Given the description of an element on the screen output the (x, y) to click on. 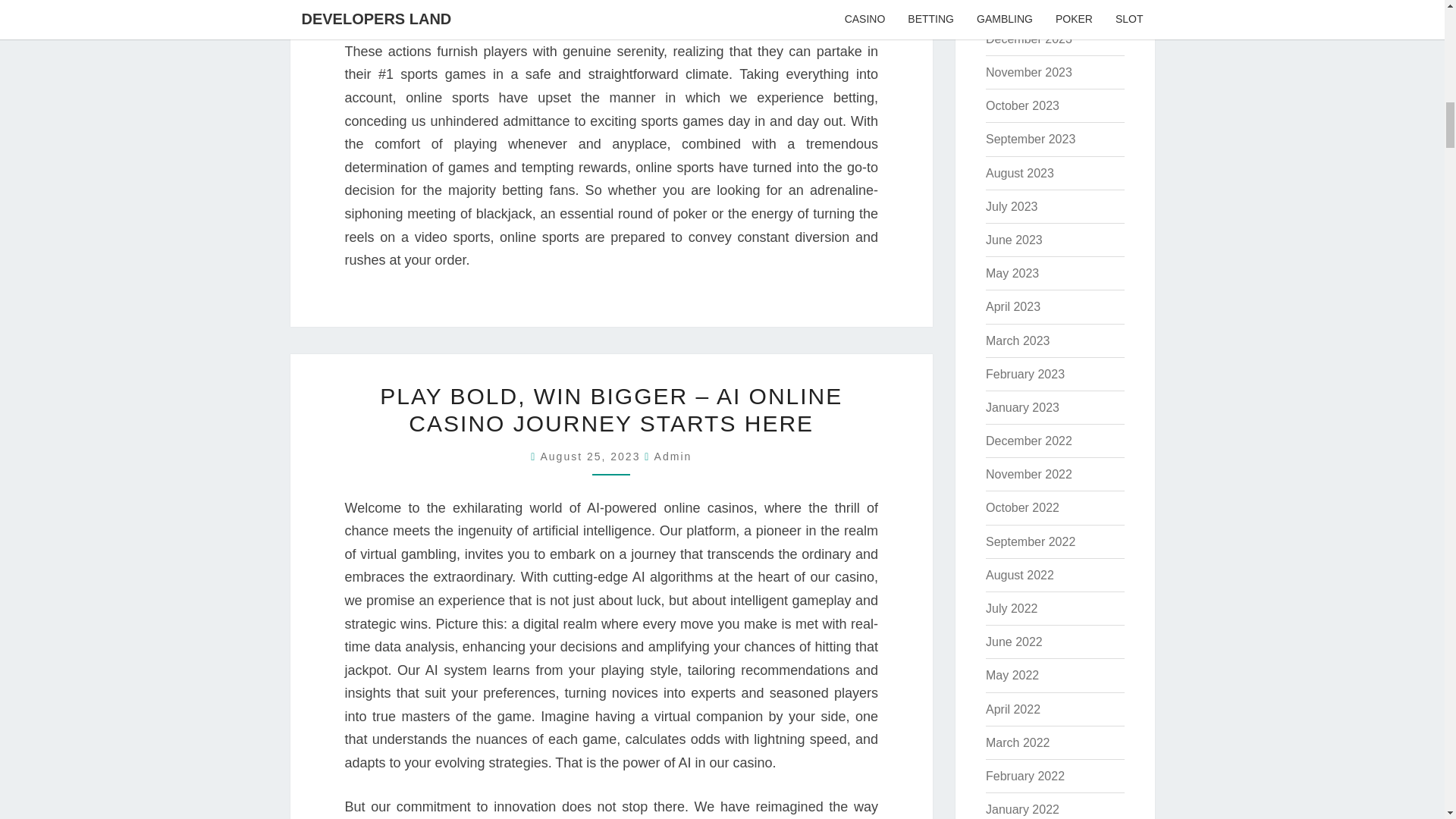
August 25, 2023 (592, 456)
View all posts by admin (673, 456)
Admin (673, 456)
8:24 am (592, 456)
